Given the description of an element on the screen output the (x, y) to click on. 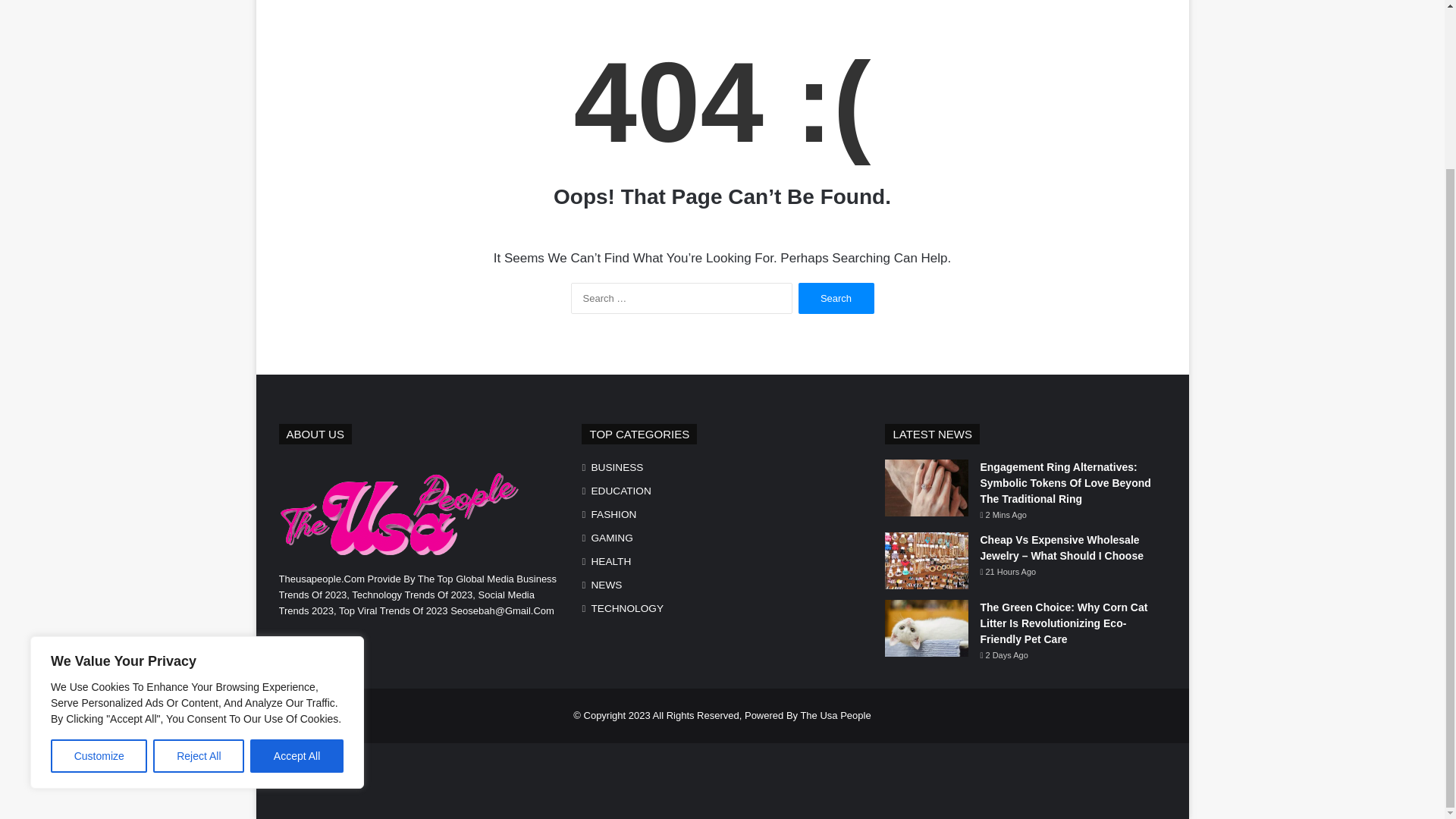
BUSINESS (617, 467)
Search (835, 297)
GAMING (611, 537)
NEWS (606, 584)
HEALTH (610, 561)
EDUCATION (620, 490)
Accept All (296, 553)
Search (835, 297)
FASHION (613, 514)
Customize (98, 553)
